Given the description of an element on the screen output the (x, y) to click on. 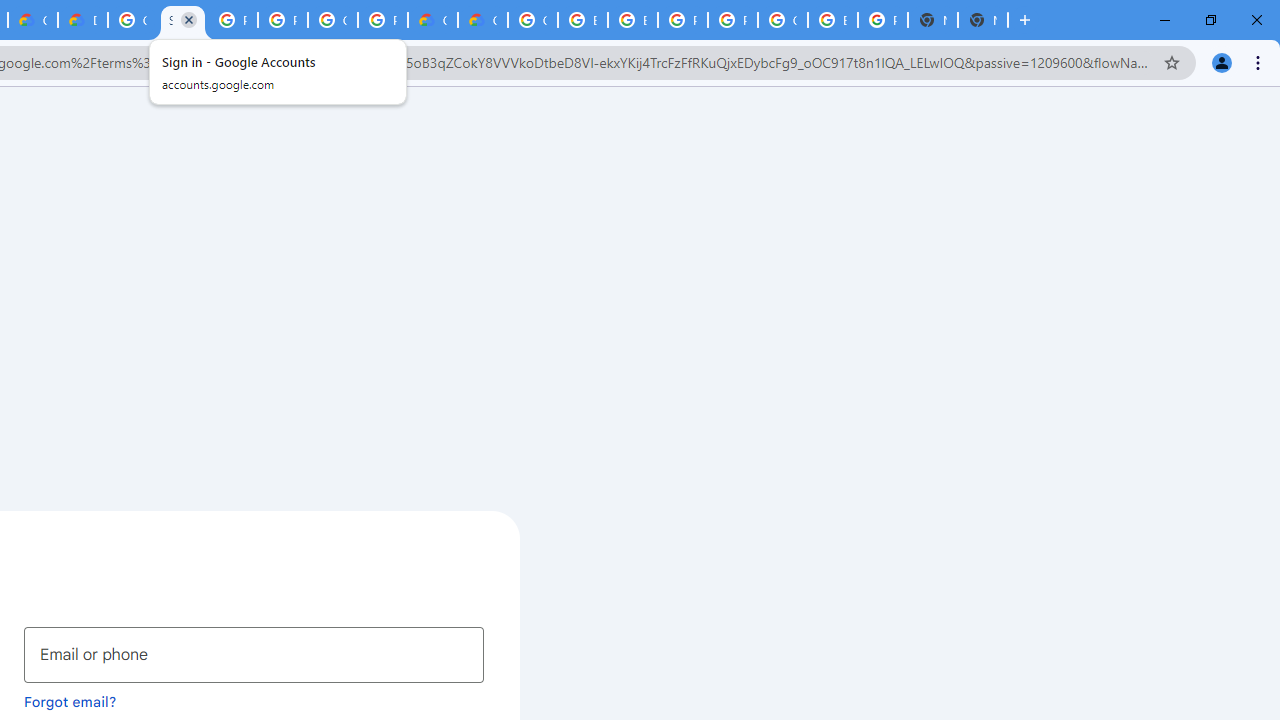
Google Cloud Platform (132, 20)
Sign in - Google Accounts (182, 20)
Email or phone (253, 654)
New Tab (982, 20)
Browse Chrome as a guest - Computer - Google Chrome Help (582, 20)
Google Cloud Platform (533, 20)
Customer Care | Google Cloud (433, 20)
Google Cloud Platform (333, 20)
